Given the description of an element on the screen output the (x, y) to click on. 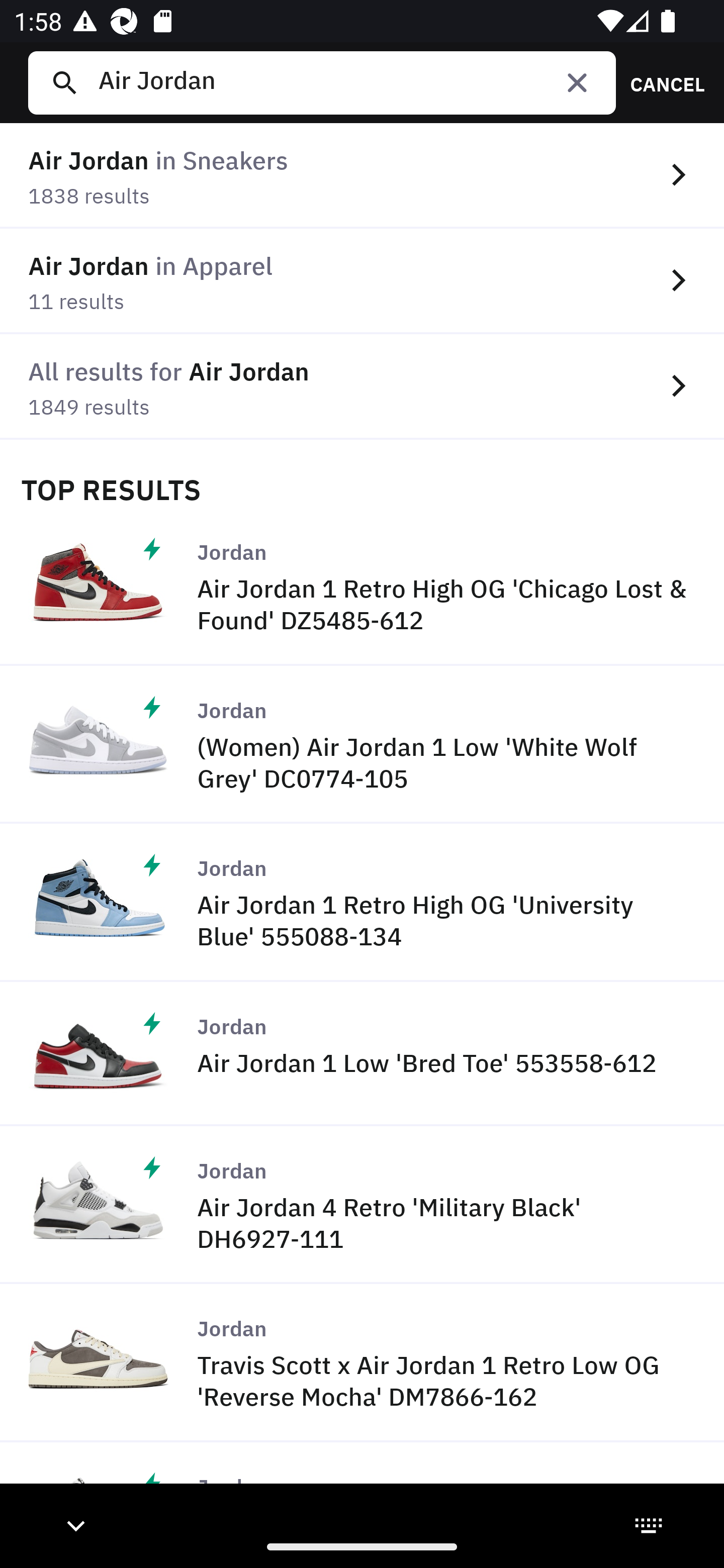
CANCEL (660, 82)
Air Jordan (349, 82)
 (577, 82)
Air Jordan  in Sneakers 1838 results  (362, 175)
Air Jordan  in Apparel 11 results  (362, 280)
All results for  Air Jordan 1849 results  (362, 386)
 Jordan Air Jordan 1 Low 'Bred Toe' 553558‑612 (362, 1053)
